Given the description of an element on the screen output the (x, y) to click on. 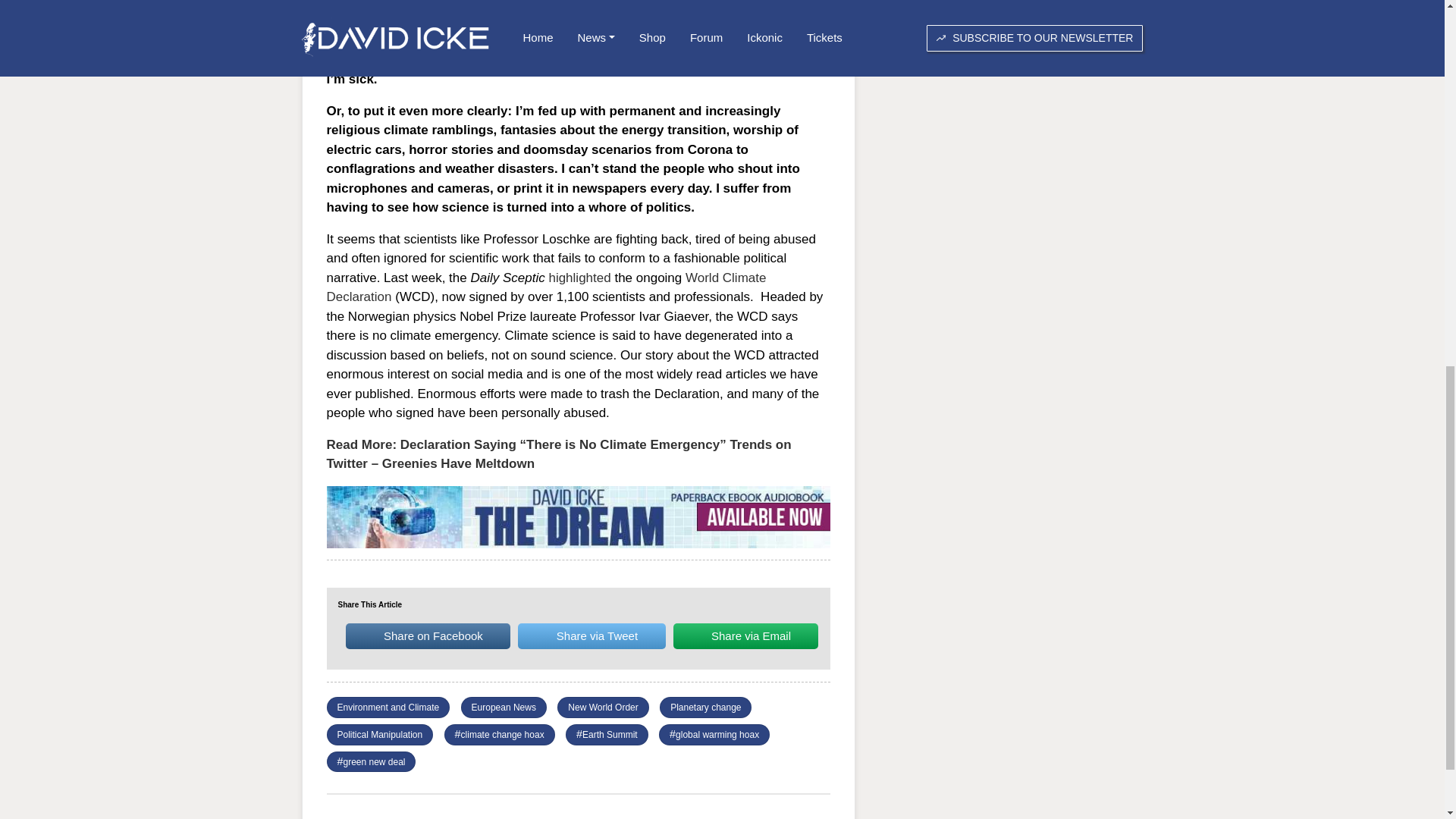
Planetary change (705, 706)
this recent Facebook post (413, 47)
Share via Tweet (591, 635)
highlighted (579, 278)
World Climate Declaration (545, 287)
Share via Email (745, 635)
European News (503, 706)
Share on Facebook (428, 635)
Environment and Climate (387, 706)
New World Order (602, 706)
